Given the description of an element on the screen output the (x, y) to click on. 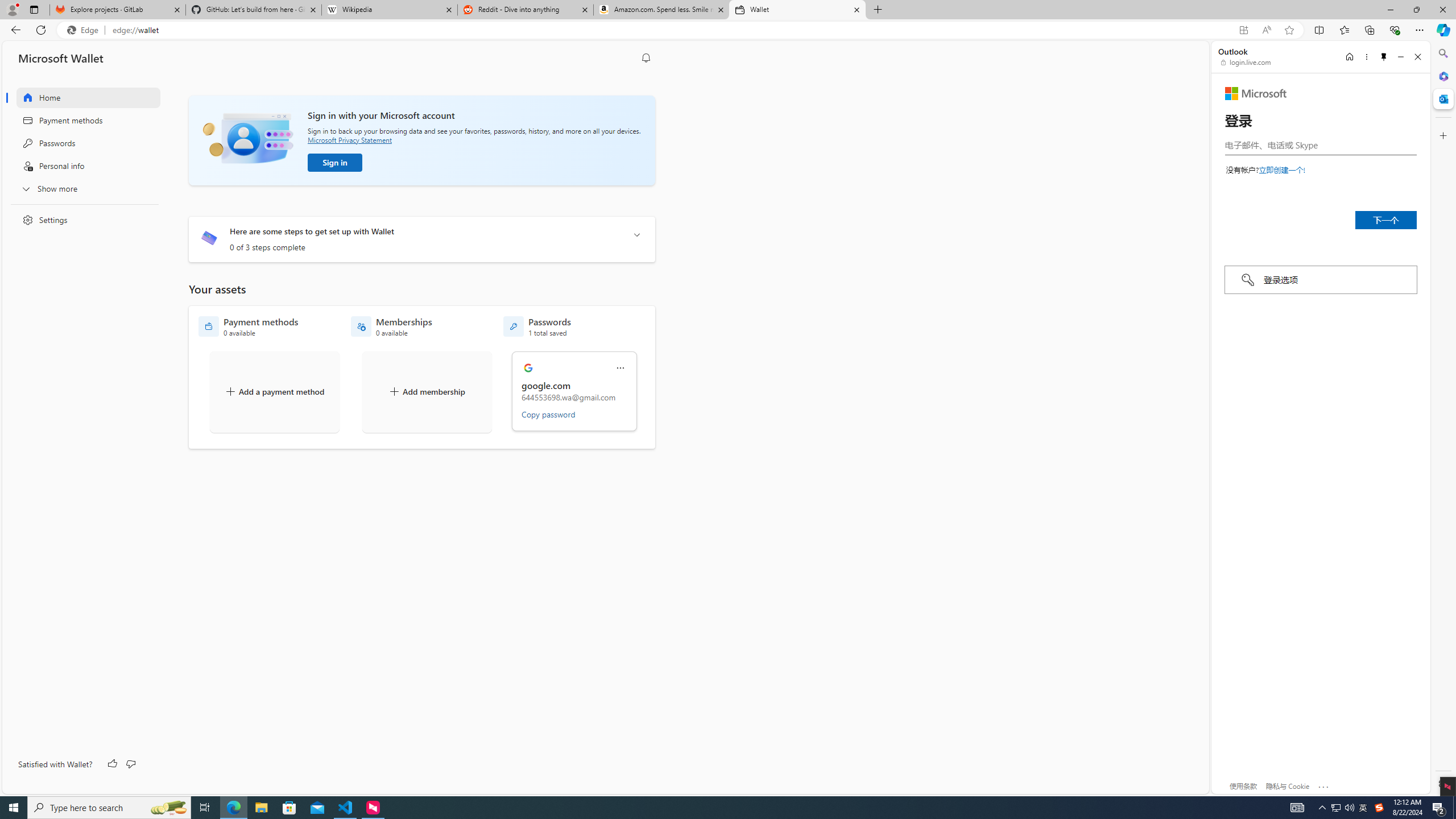
App available. Install Microsoft Wallet (1243, 29)
Microsoft Privacy Statement (349, 139)
Amazon.com. Spend less. Smile more. (660, 9)
Add membership (427, 391)
Passwords - 1 total saved (537, 326)
More actions (619, 368)
